Given the description of an element on the screen output the (x, y) to click on. 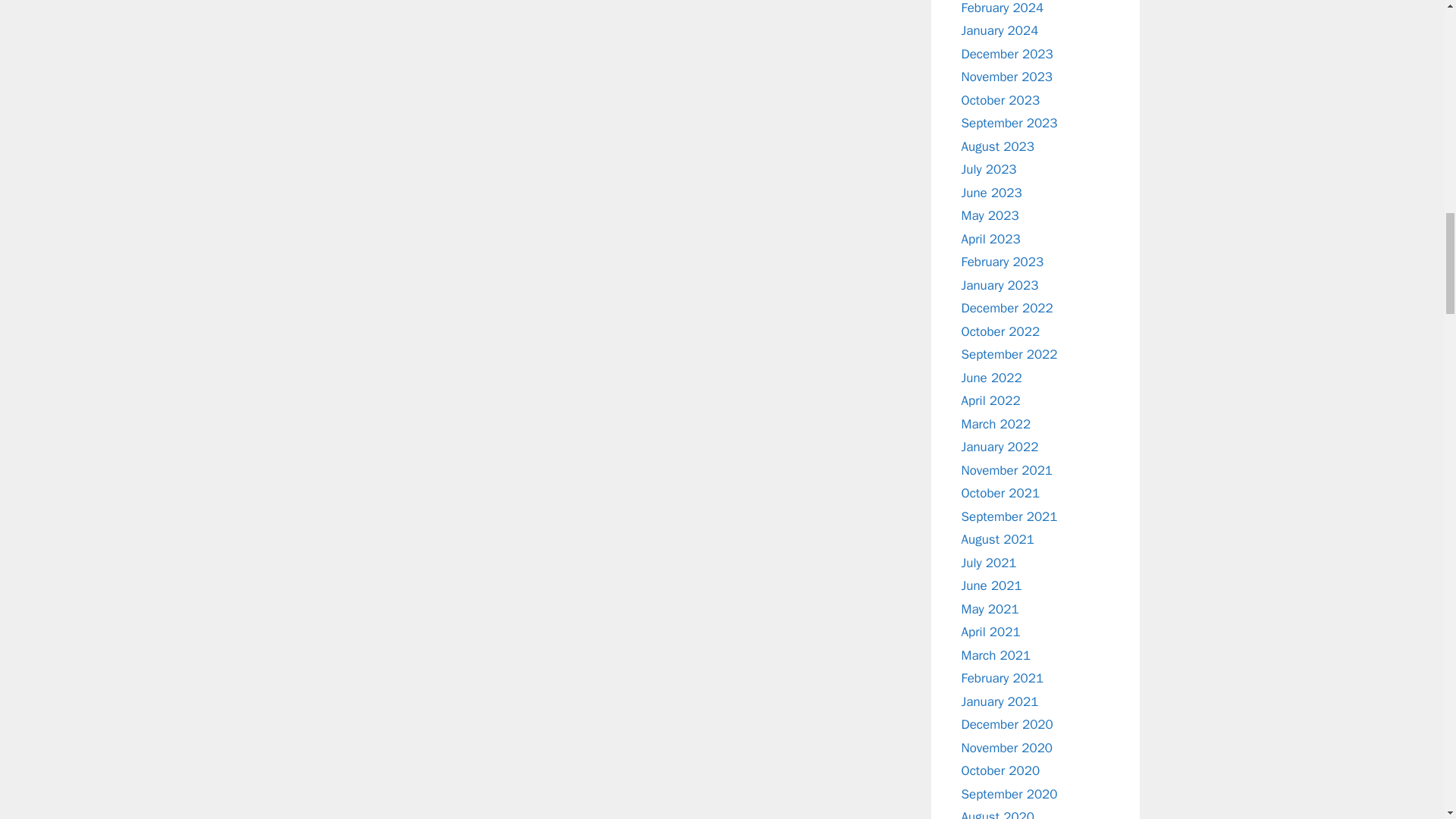
August 2023 (996, 145)
February 2024 (1001, 7)
June 2023 (991, 192)
January 2024 (999, 30)
July 2023 (988, 169)
September 2023 (1009, 123)
October 2023 (1000, 100)
November 2023 (1006, 76)
December 2023 (1006, 53)
